Given the description of an element on the screen output the (x, y) to click on. 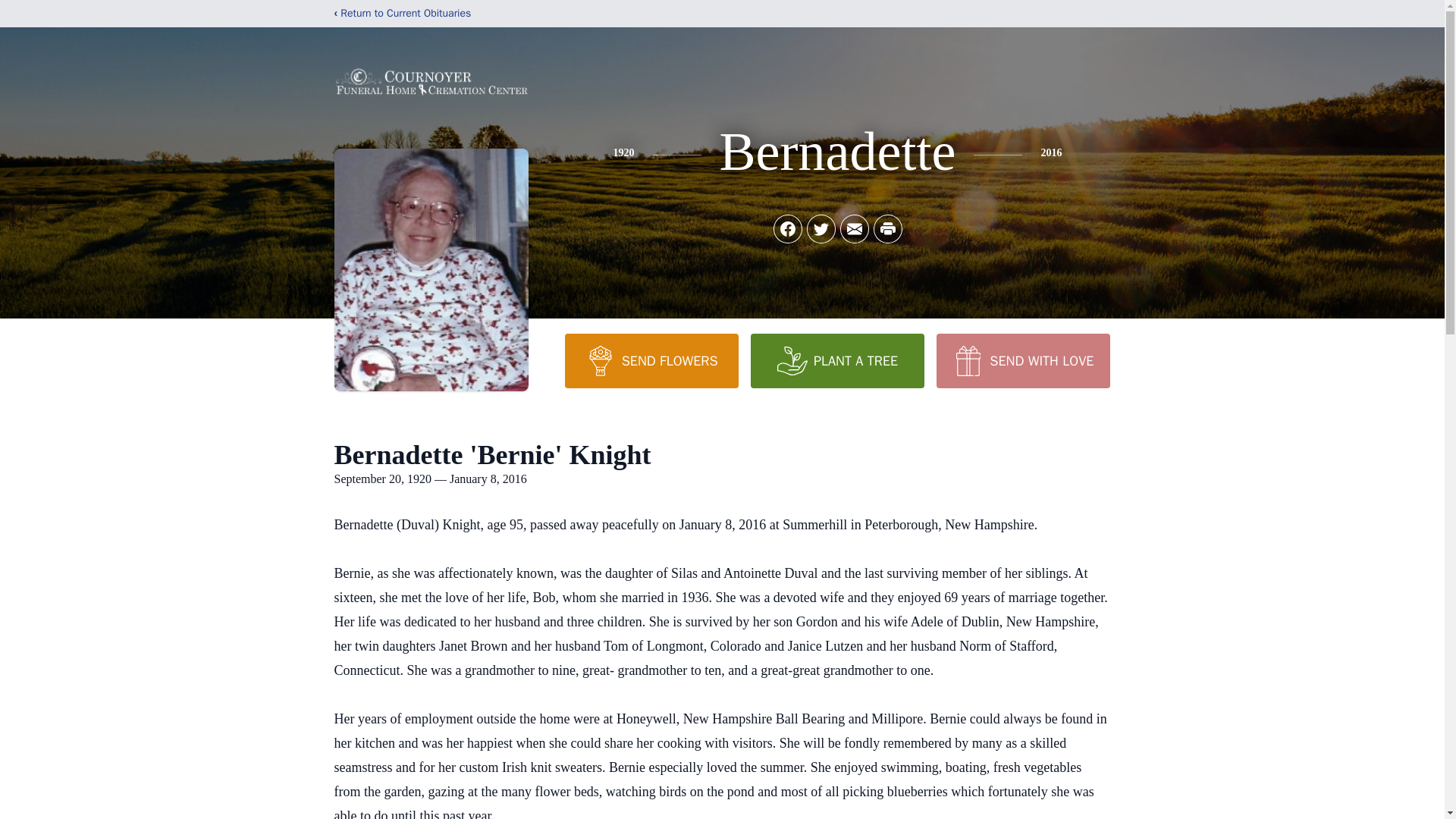
SEND FLOWERS (651, 360)
PLANT A TREE (837, 360)
SEND WITH LOVE (1022, 360)
